Given the description of an element on the screen output the (x, y) to click on. 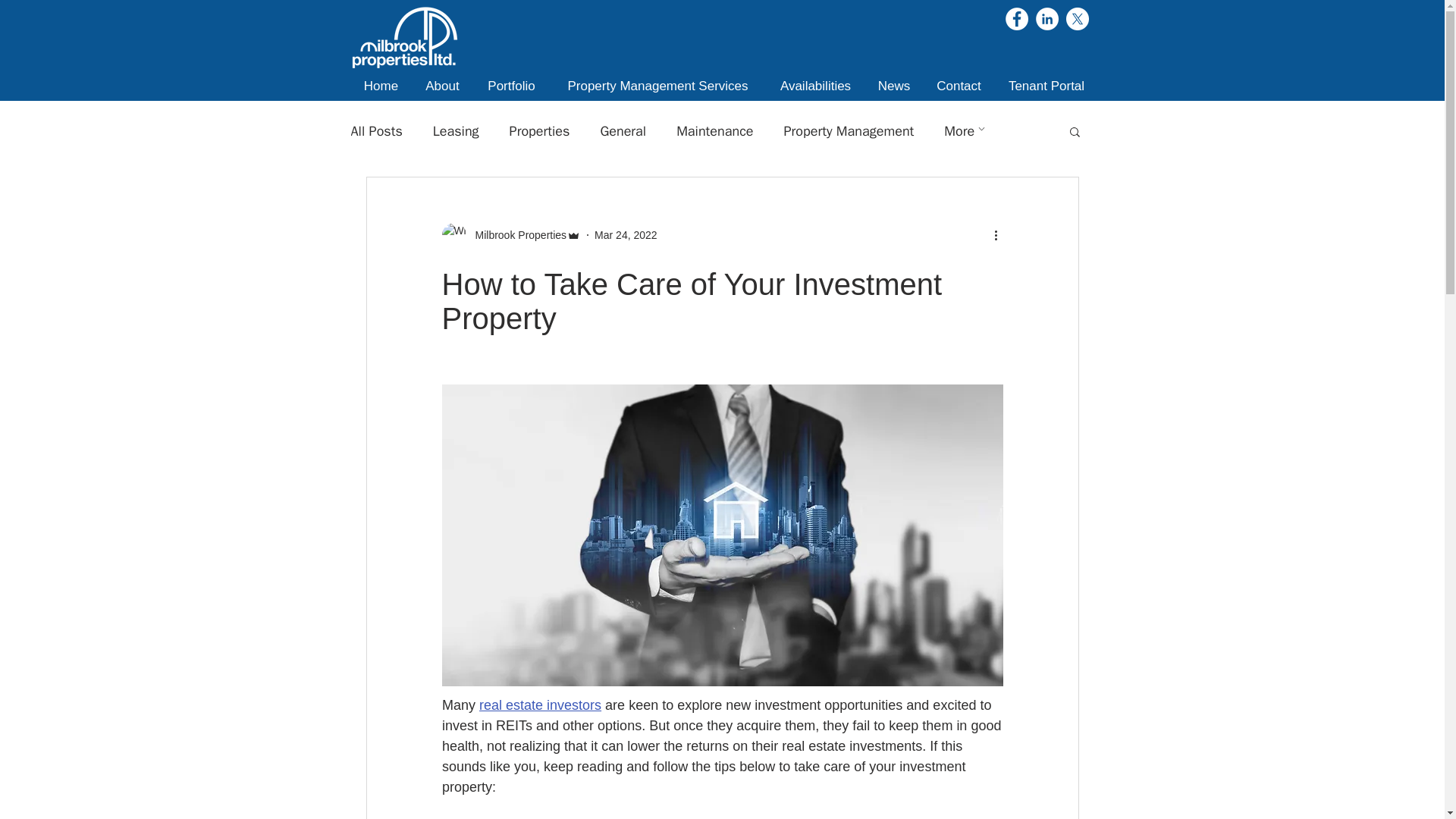
real estate investors (540, 704)
Maintenance (714, 131)
News (893, 86)
Property Management (848, 131)
Tenant Portal (1046, 86)
Contact (958, 86)
Milbrook Properties (515, 235)
Property Management Services (656, 86)
All Posts (375, 131)
Properties (539, 131)
General (622, 131)
Milbrook Properties (510, 234)
Leasing (455, 131)
Mar 24, 2022 (626, 234)
Portfolio (510, 86)
